Given the description of an element on the screen output the (x, y) to click on. 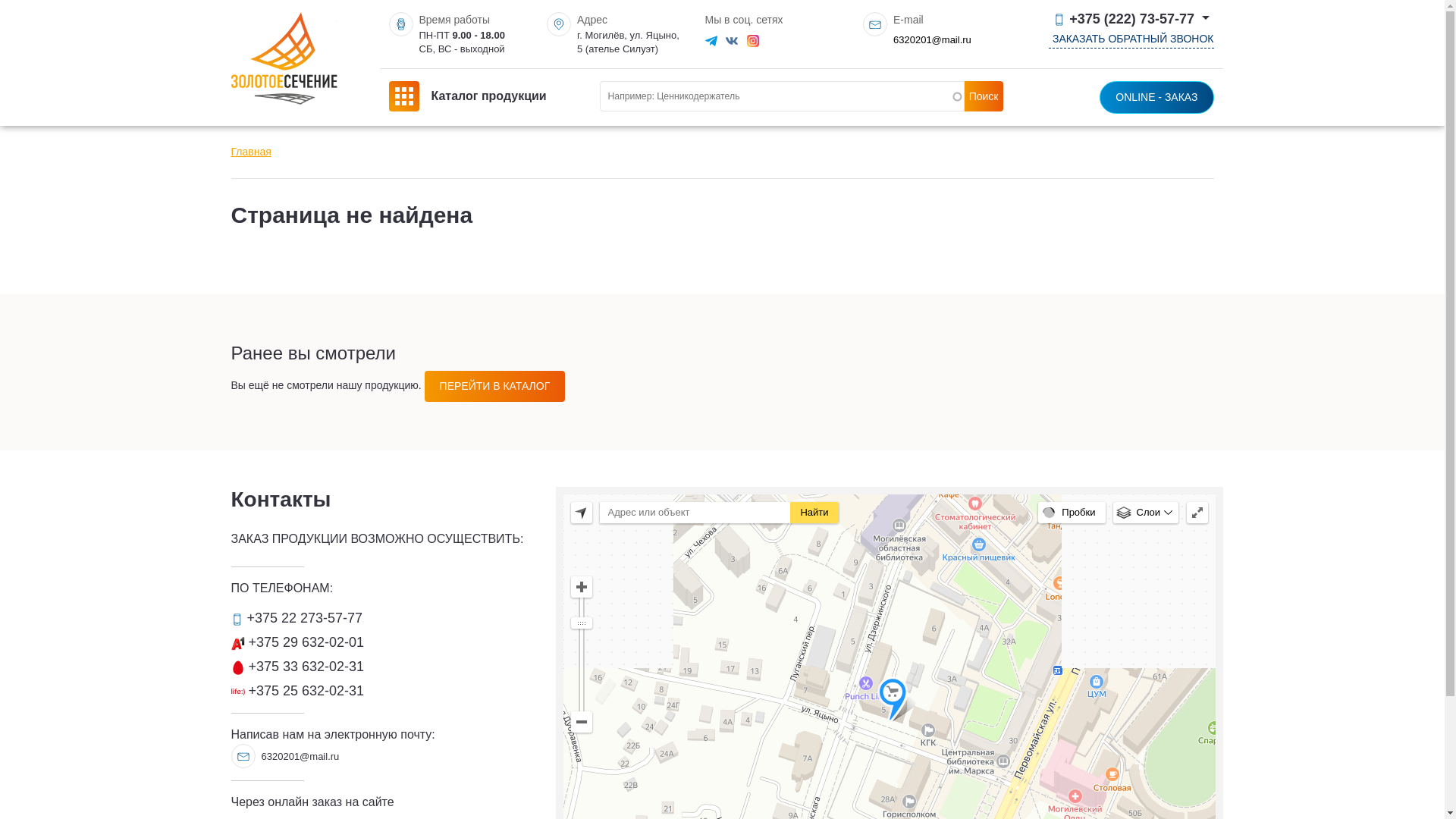
+375 25 632-02-31 Element type: text (297, 690)
+375 22 273-57-77 Element type: text (296, 617)
+375 29 632-02-01 Element type: text (297, 641)
+375 33 632-02-31 Element type: text (297, 666)
+375 (222) 73-57-77 Element type: text (1130, 19)
6320201@mail.ru Element type: text (932, 39)
